Given the description of an element on the screen output the (x, y) to click on. 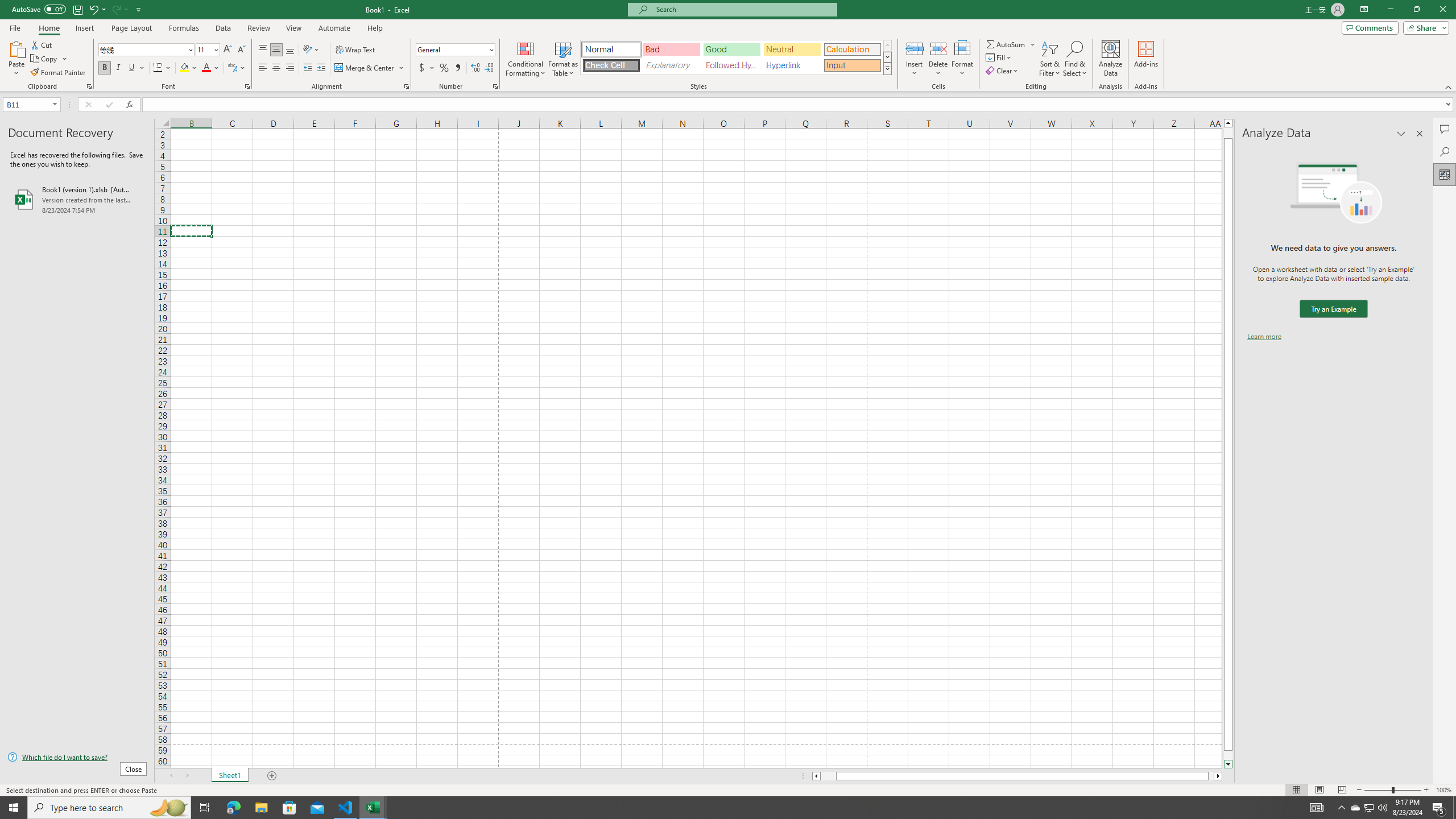
Hyperlink (791, 65)
Underline (131, 67)
Show Phonetic Field (236, 67)
Delete Cells... (938, 48)
Copy (49, 58)
Find & Select (1075, 58)
Percent Style (443, 67)
Page up (1228, 132)
Format Cell Number (494, 85)
